Given the description of an element on the screen output the (x, y) to click on. 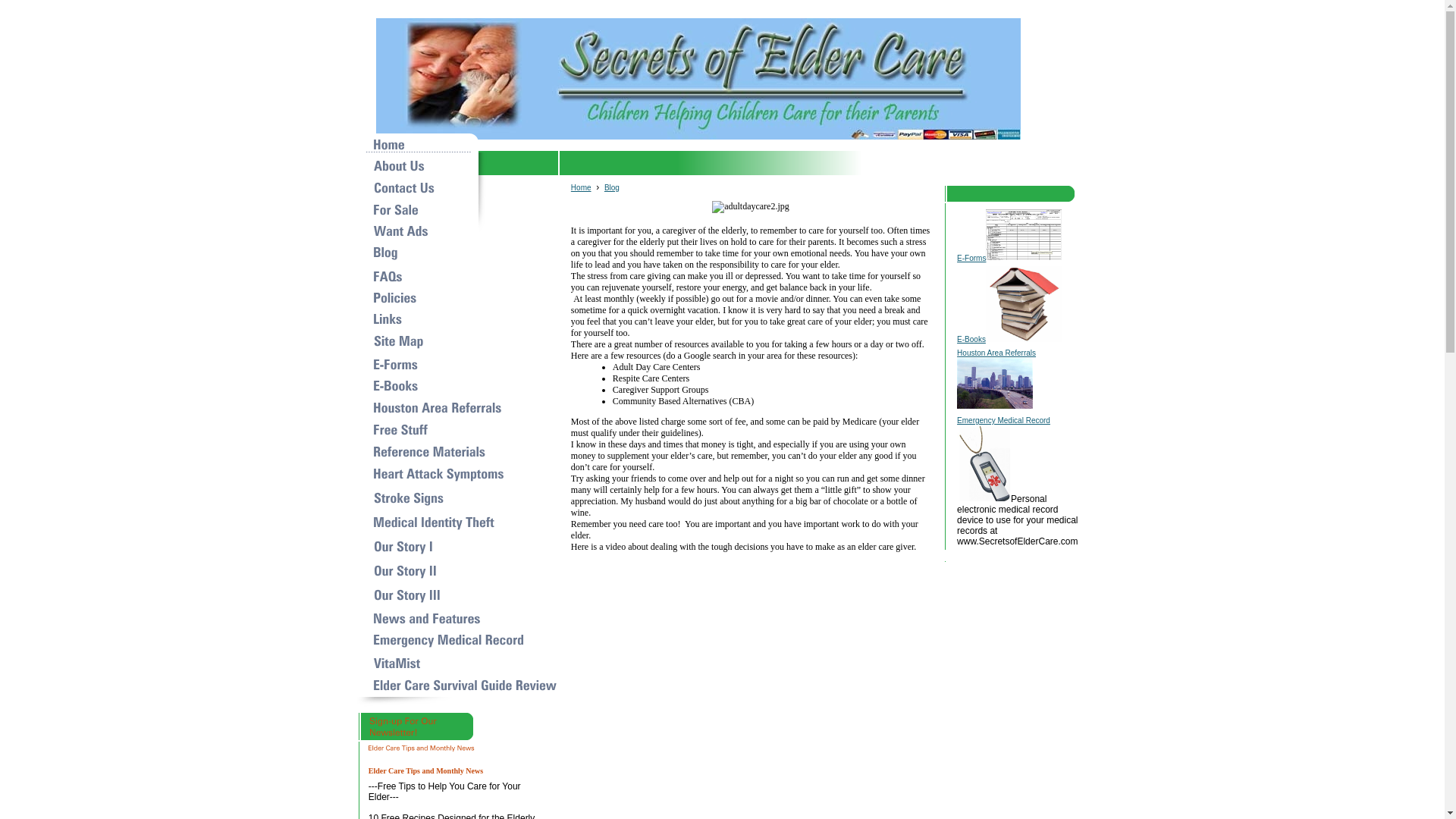
Adult Day Care for your Elder (750, 206)
Emergency Medical Record (1002, 420)
Blog (612, 187)
Home (580, 187)
E-Forms (970, 257)
Houston Area Referrals (995, 352)
E-Books (970, 338)
